Given the description of an element on the screen output the (x, y) to click on. 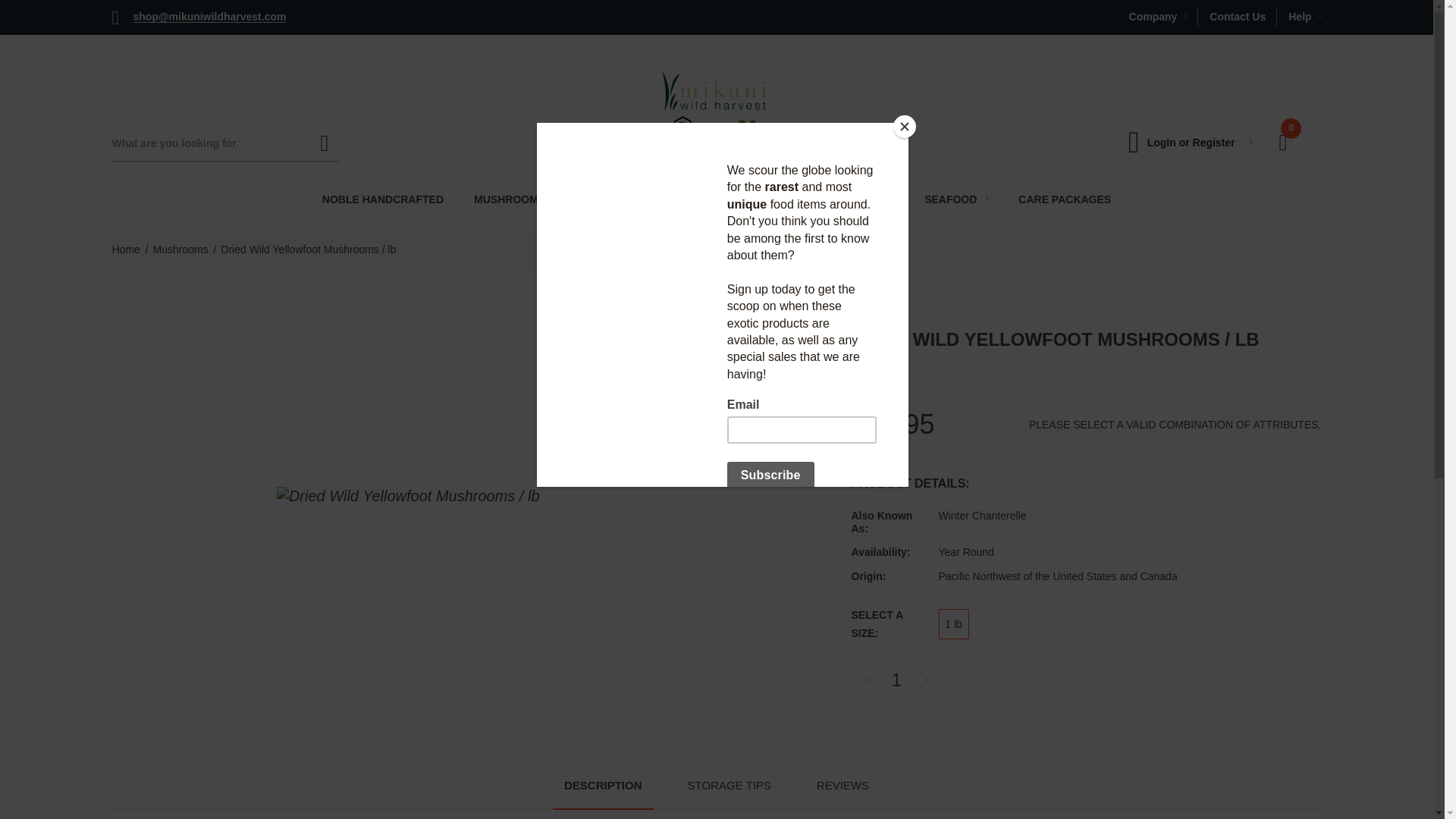
select a size: (893, 624)
Company (1158, 16)
1 (895, 680)
Mikuni Wild Harvest (715, 112)
Mushrooms (180, 249)
Home (125, 249)
1 lb (954, 624)
